Given the description of an element on the screen output the (x, y) to click on. 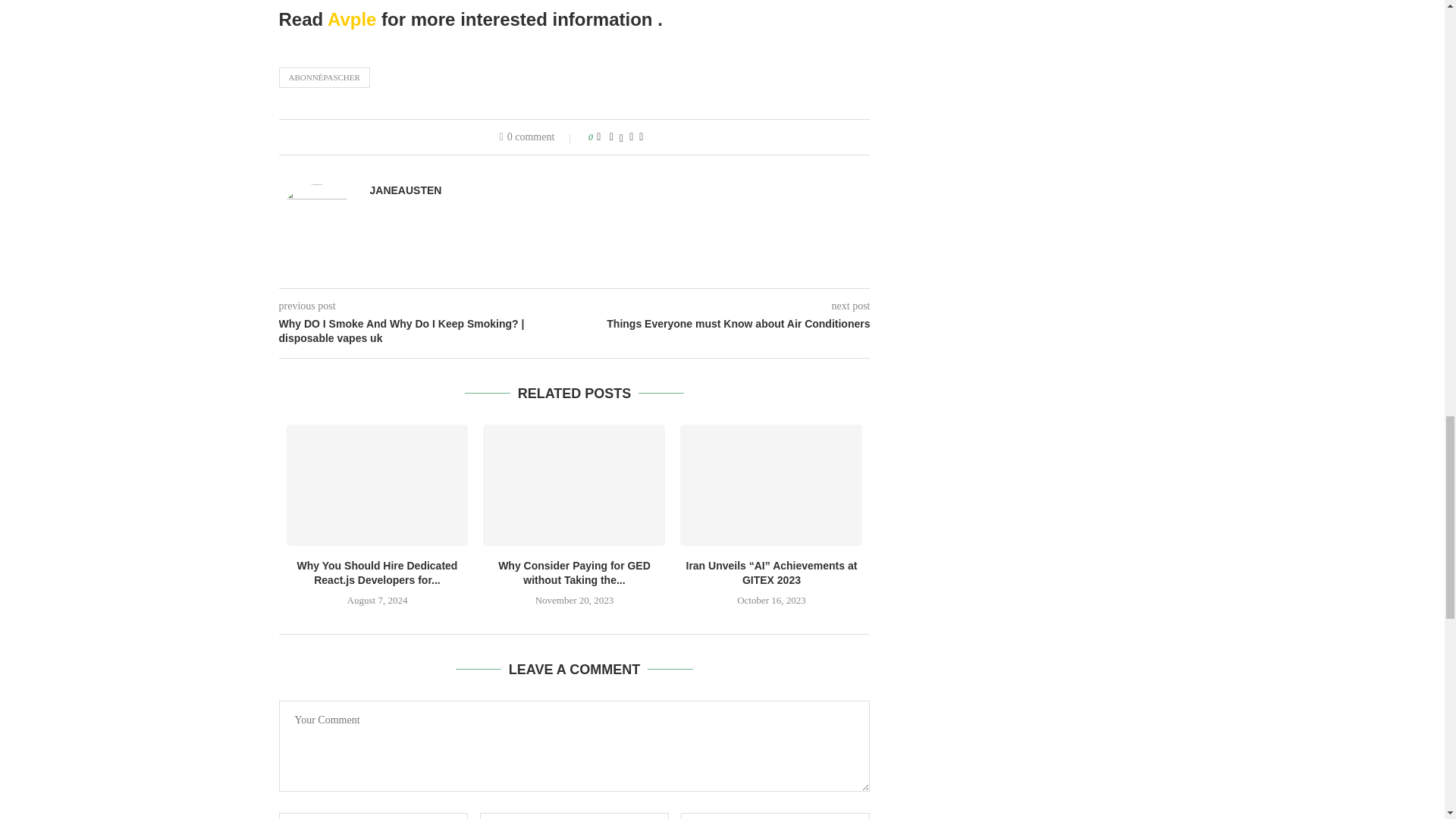
Author janeausten (405, 190)
Why You Should Hire Dedicated React.js Developers for... (377, 573)
Avple (352, 19)
Things Everyone must Know about Air Conditioners (722, 324)
JANEAUSTEN (405, 190)
